Given the description of an element on the screen output the (x, y) to click on. 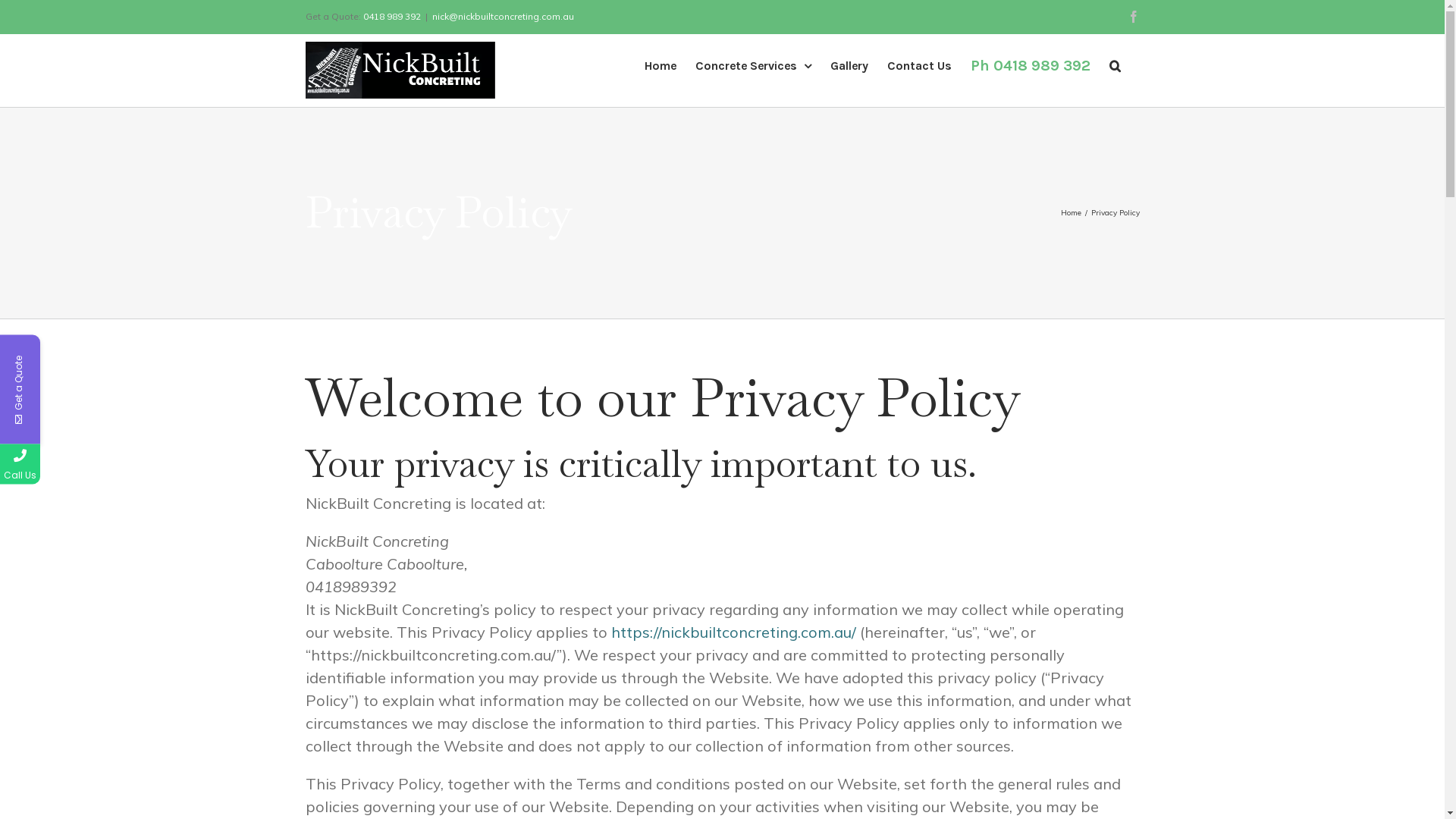
Search Element type: hover (1114, 65)
Concrete Services Element type: text (752, 65)
Home Element type: text (660, 65)
nick@nickbuiltconcreting.com.au Element type: text (503, 15)
0418 989 392 Element type: text (391, 15)
Gallery Element type: text (848, 65)
Call Us Element type: text (20, 464)
Home Element type: text (1070, 212)
https://nickbuiltconcreting.com.au/ Element type: text (733, 630)
Ph 0418 989 392 Element type: text (1030, 65)
Contact Us Element type: text (919, 65)
0418 989 392 Element type: text (92, 464)
Submit Element type: text (196, 640)
facebook Element type: text (1132, 16)
